Given the description of an element on the screen output the (x, y) to click on. 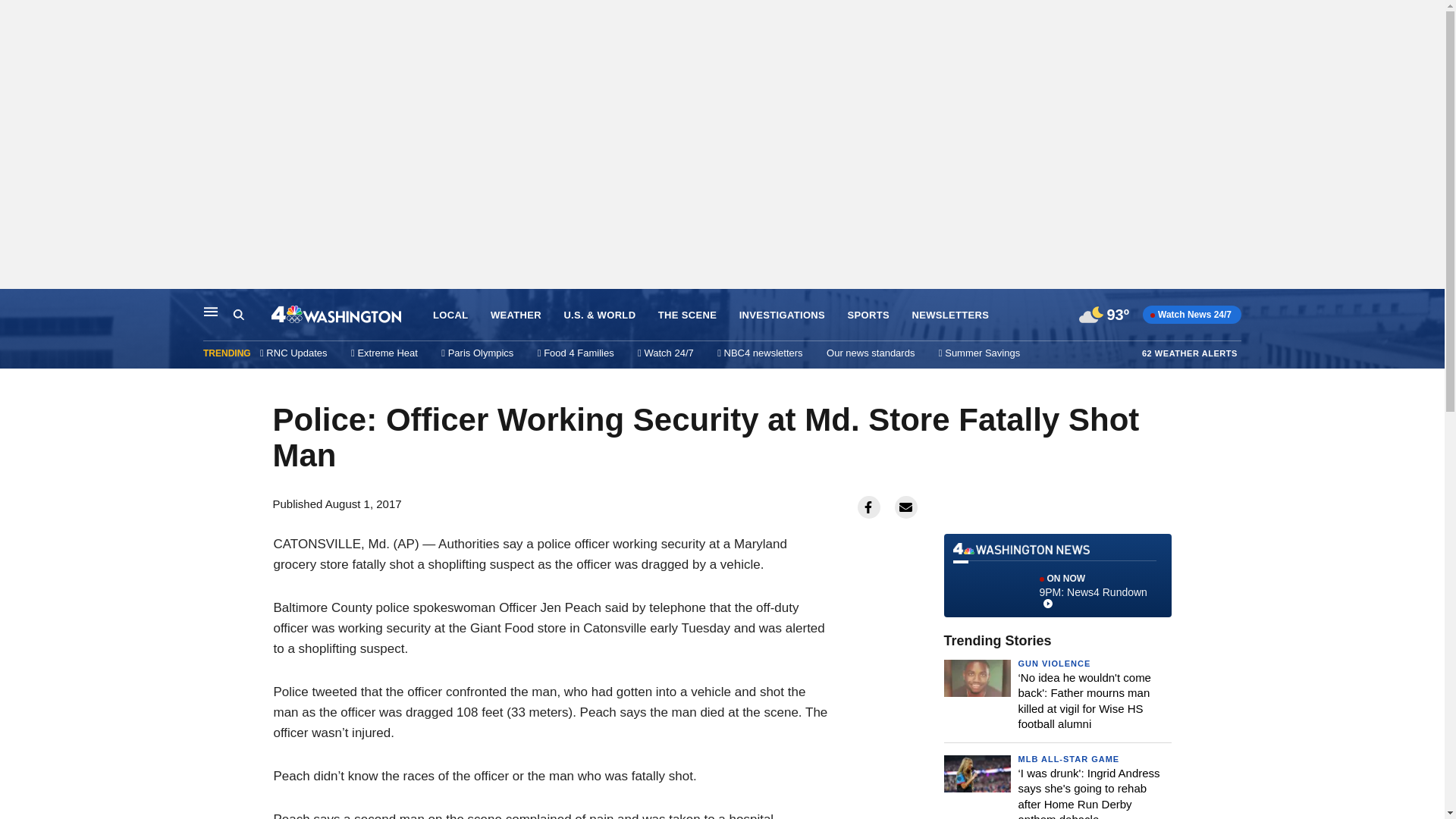
GUN VIOLENCE (1053, 663)
MLB ALL-STAR GAME (1056, 575)
THE SCENE (1068, 758)
Skip to content (687, 315)
Search (16, 304)
62 WEATHER ALERTS (252, 314)
NEWSLETTERS (1189, 352)
Search (949, 315)
LOCAL (238, 314)
Main Navigation (449, 315)
WEATHER (210, 311)
INVESTIGATIONS (515, 315)
SPORTS (782, 315)
Our news standards (868, 315)
